Given the description of an element on the screen output the (x, y) to click on. 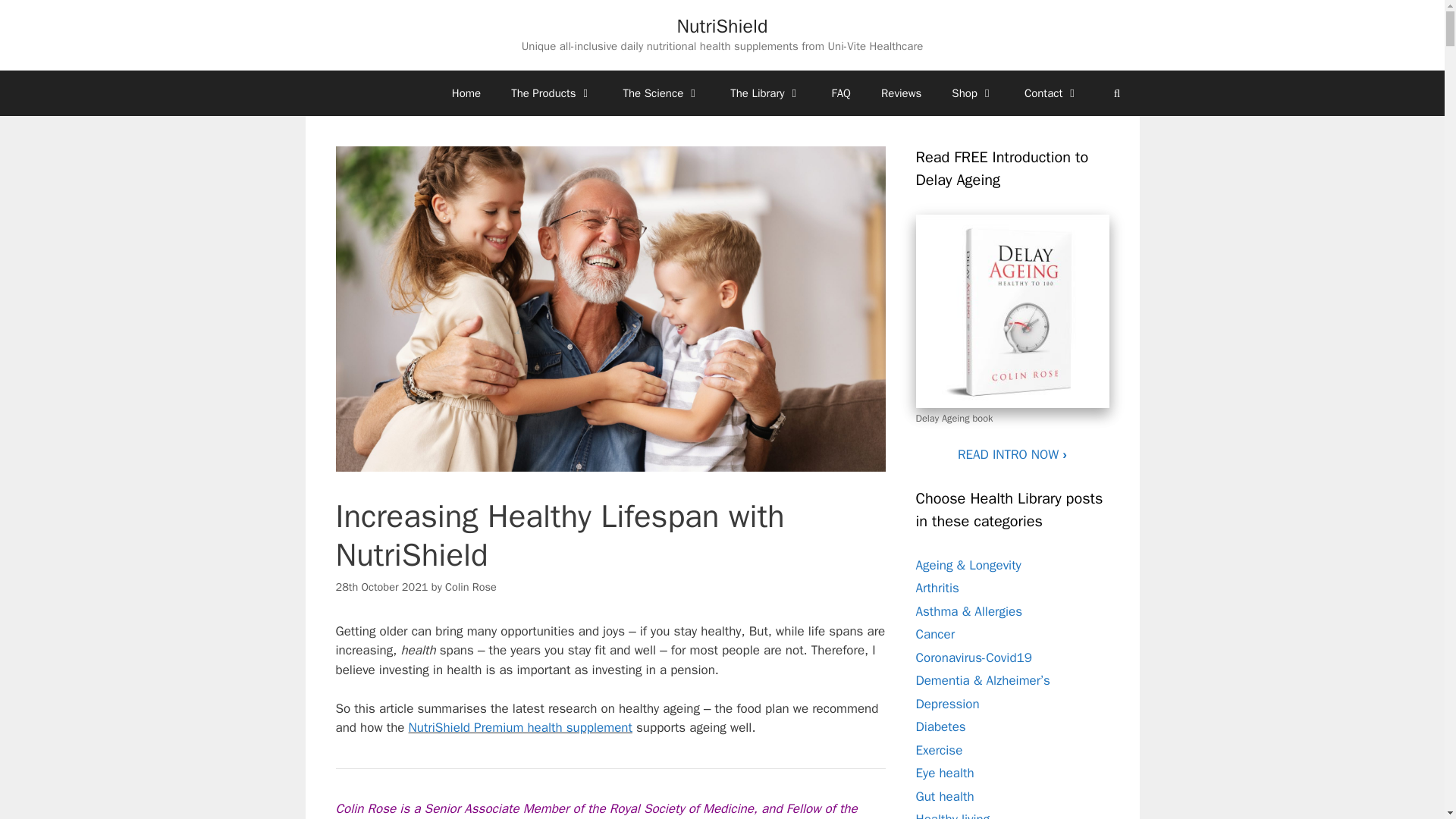
NutriShield (722, 25)
Shop (972, 92)
The Products (551, 92)
Reviews (901, 92)
The Science (662, 92)
View all posts by Colin Rose (470, 586)
Home (466, 92)
FAQ (841, 92)
The Library (764, 92)
